Given the description of an element on the screen output the (x, y) to click on. 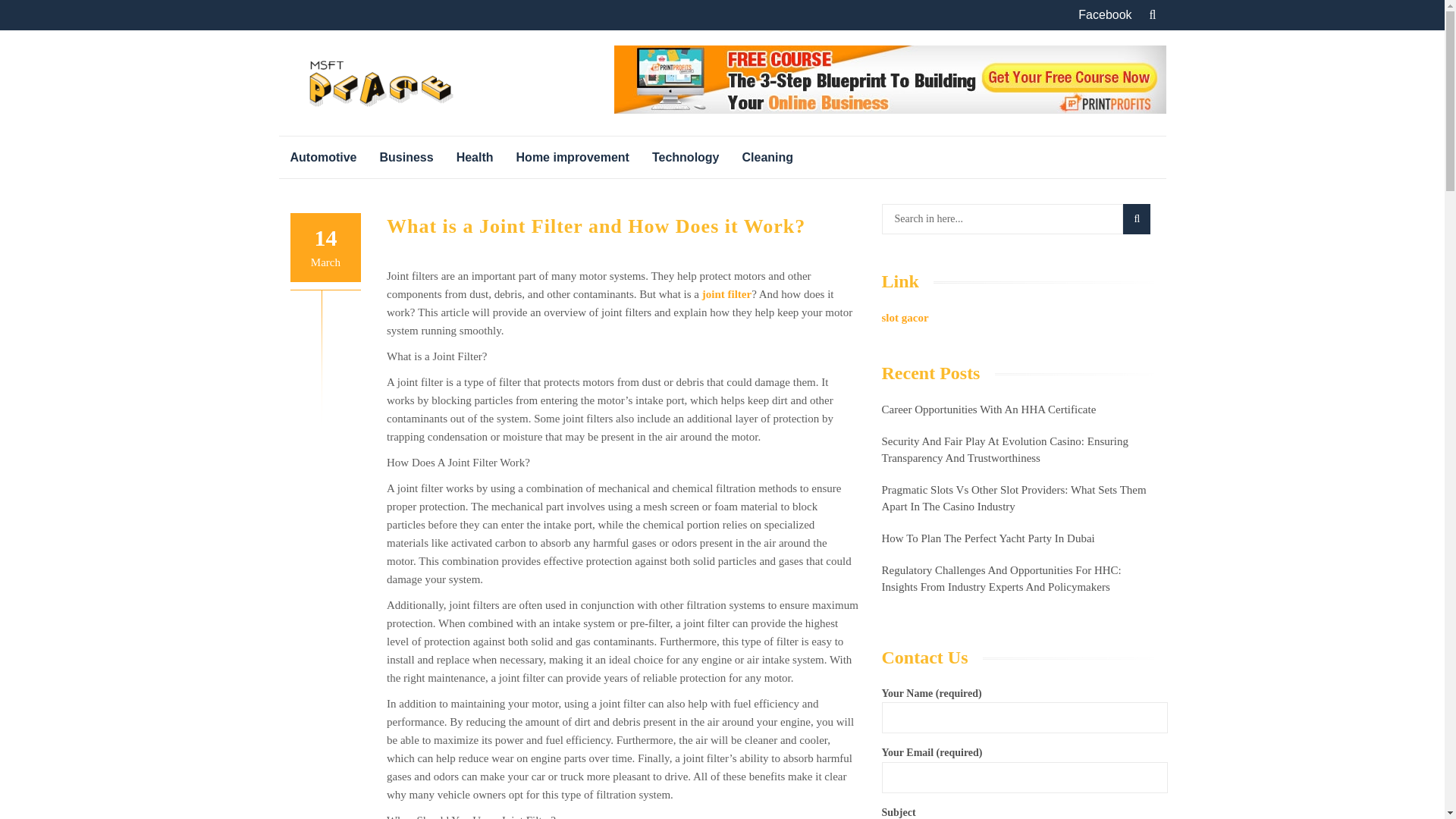
Business (406, 157)
Search (1136, 218)
Health (475, 157)
joint filter (726, 294)
Cleaning (767, 157)
Automotive (323, 157)
Facebook (1104, 15)
Home improvement (572, 157)
Search for: (1001, 218)
Technology (685, 157)
